Given the description of an element on the screen output the (x, y) to click on. 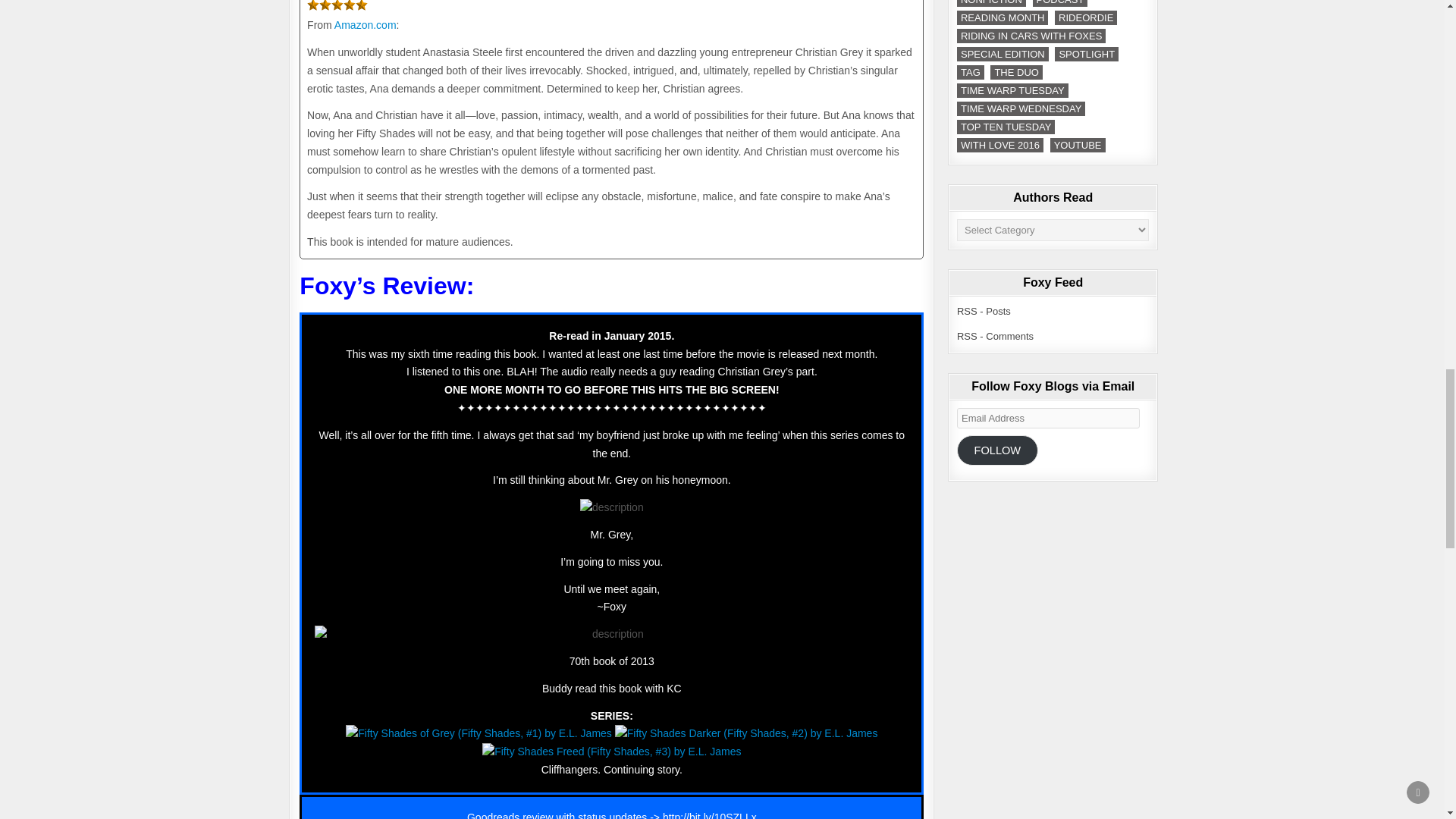
70th book of 2013 (611, 661)
KC (673, 688)
Amazon.com (365, 24)
